Given the description of an element on the screen output the (x, y) to click on. 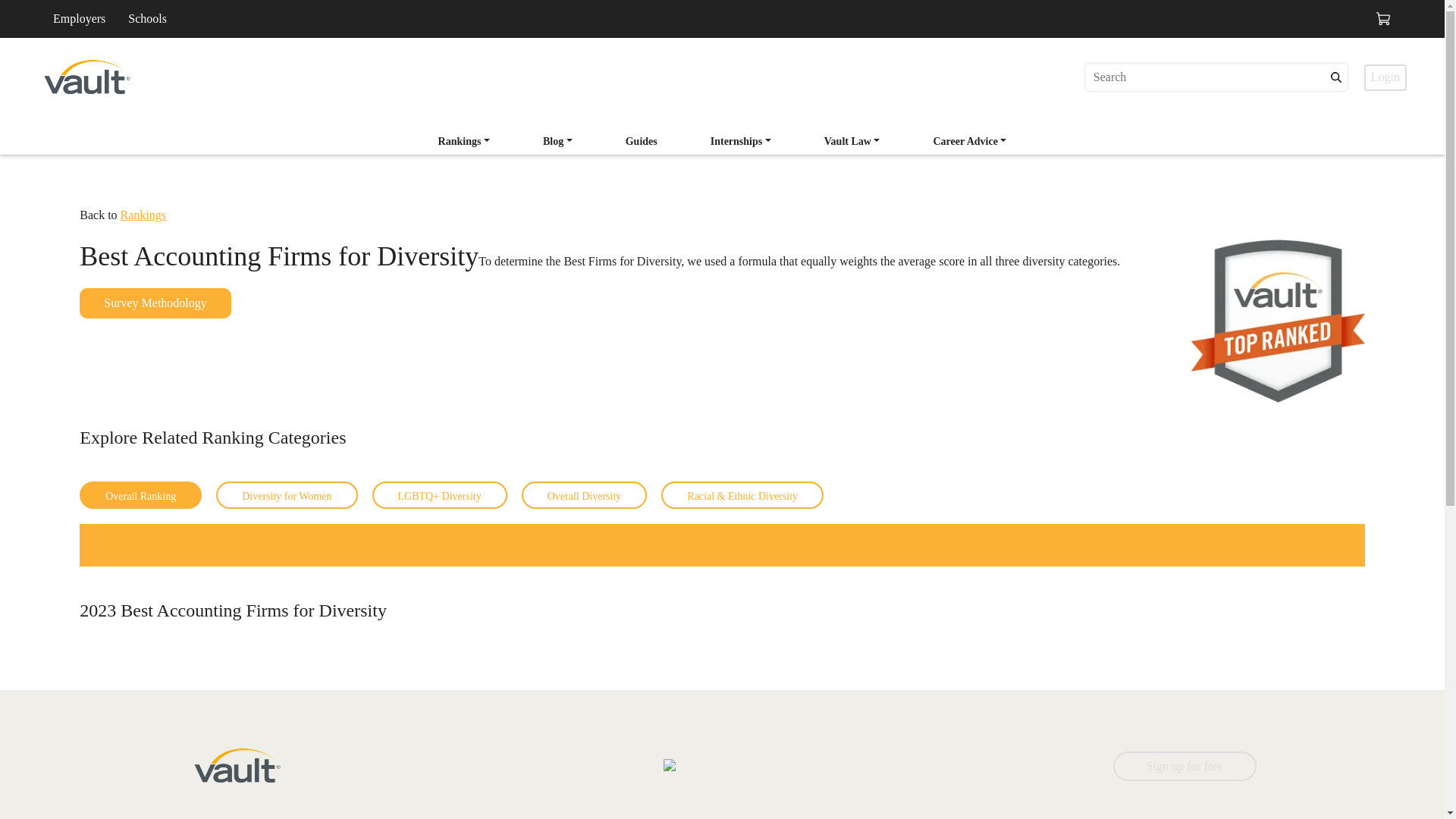
Login (722, 135)
Guides (1385, 76)
Internships (641, 142)
Diversity for Women (740, 142)
Rankings (285, 494)
Schools (142, 214)
Guides (147, 18)
Blog (641, 141)
Sign up for free (557, 141)
Vault Law (1184, 766)
Rankings (852, 141)
Internships (464, 142)
Employers (740, 141)
Overall Diversity (78, 18)
